Given the description of an element on the screen output the (x, y) to click on. 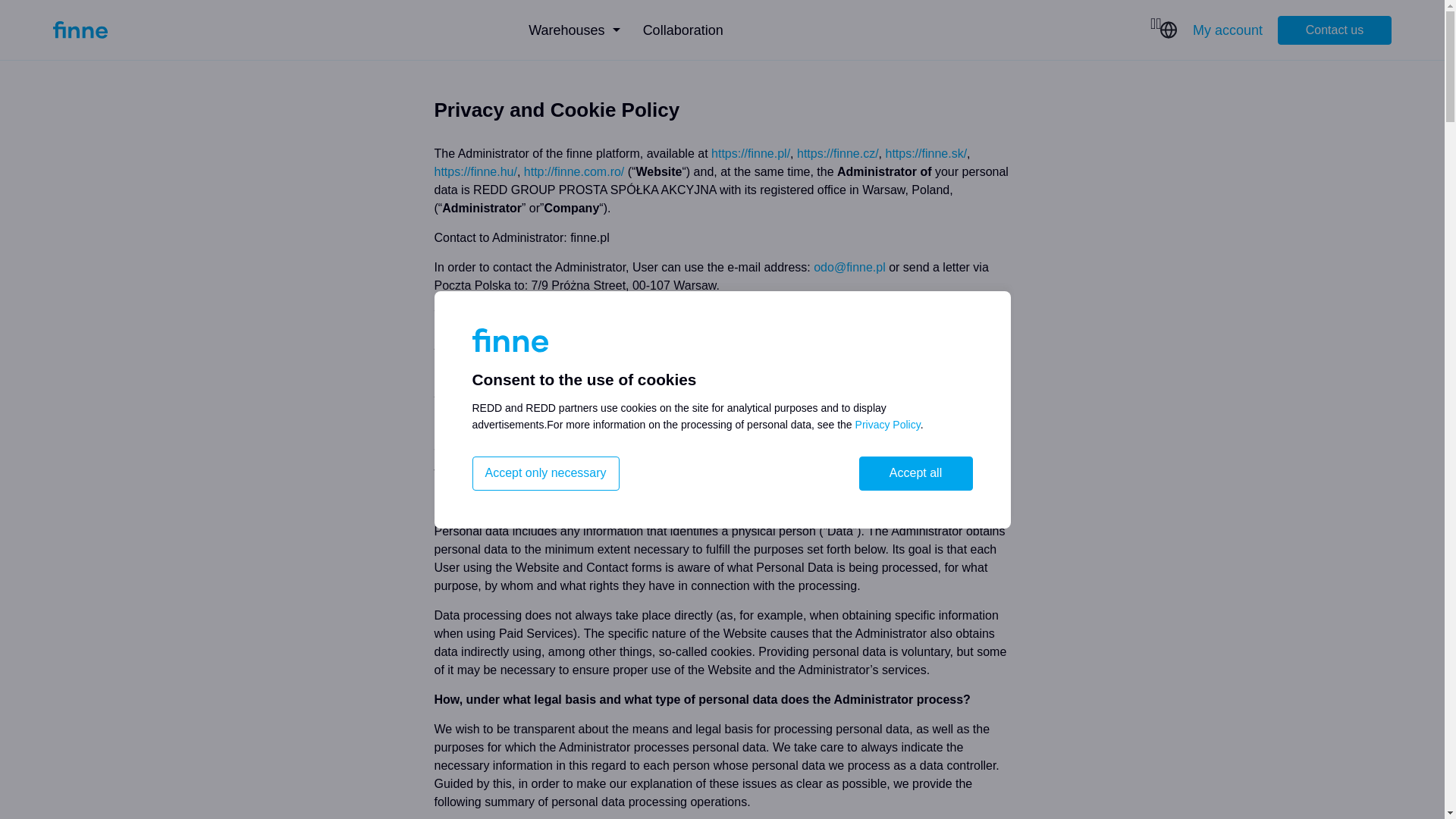
My account (1227, 29)
Warehouses (574, 29)
Collaboration (683, 29)
Privacy Policy (888, 424)
Contact us (1334, 29)
Accept all (915, 473)
Accept only necessary (544, 473)
